Given the description of an element on the screen output the (x, y) to click on. 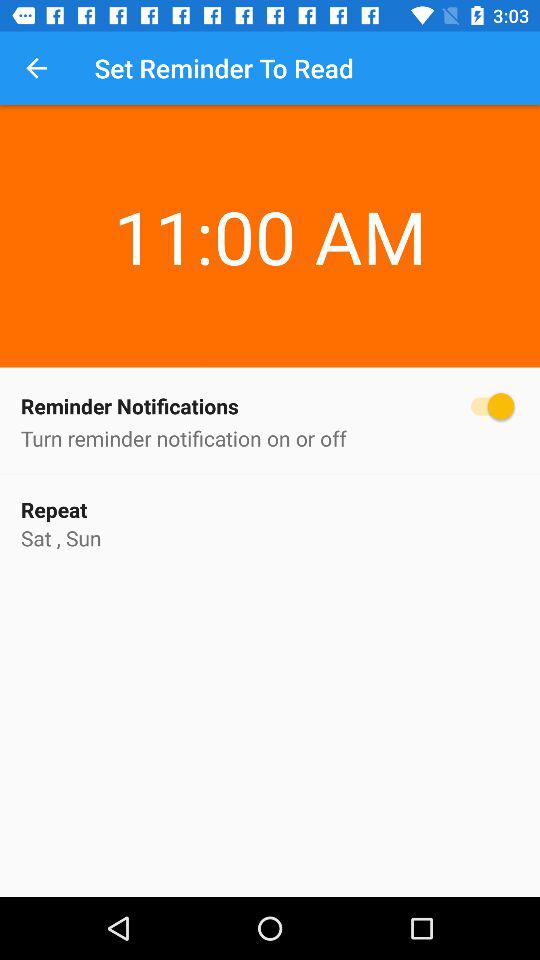
press item at the top left corner (36, 68)
